Given the description of an element on the screen output the (x, y) to click on. 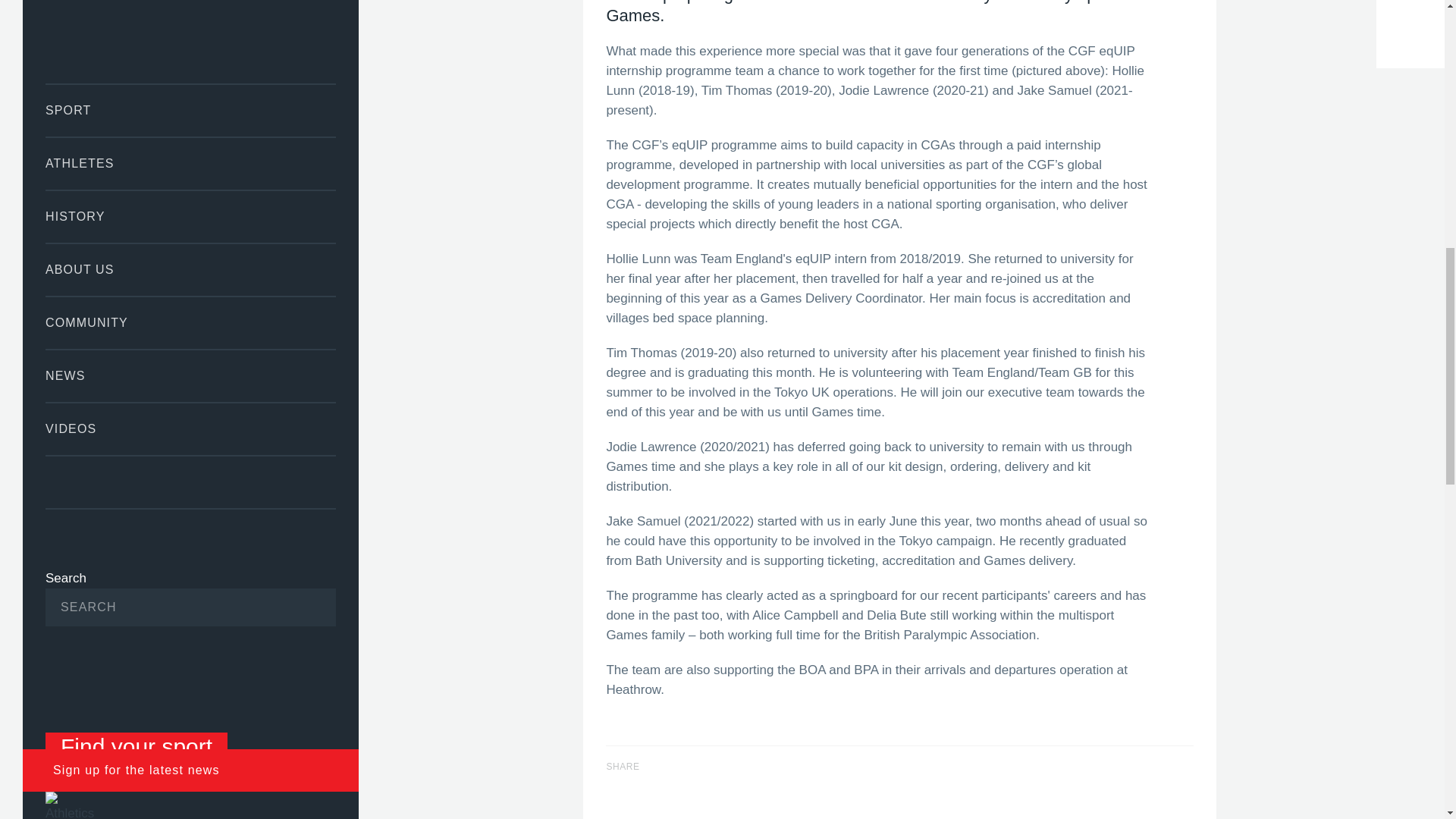
Share on Twitter (739, 771)
Share on Facebook (698, 771)
